Given the description of an element on the screen output the (x, y) to click on. 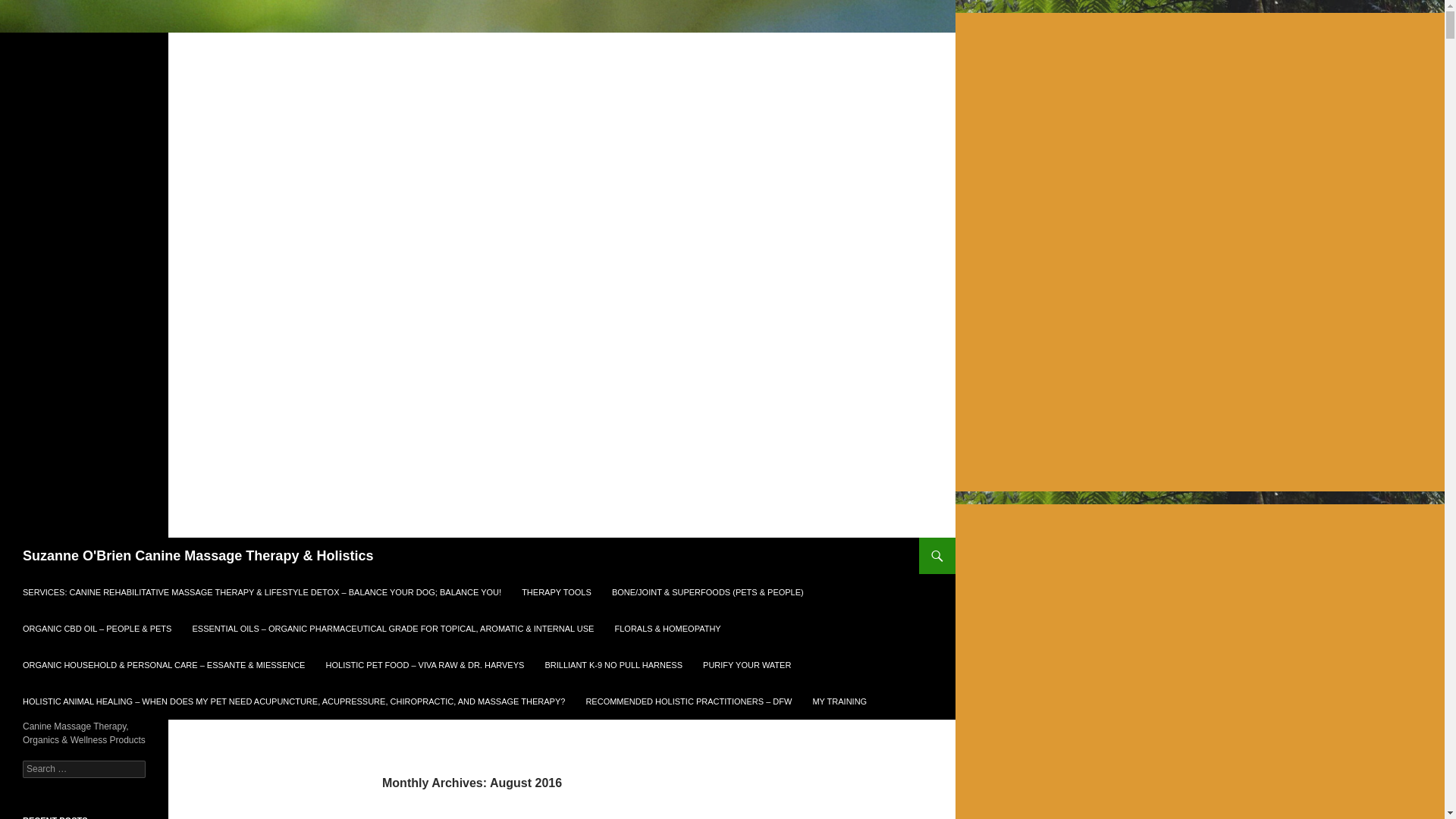
MY TRAINING (839, 701)
BRILLIANT K-9 NO PULL HARNESS (613, 665)
THERAPY TOOLS (555, 592)
PURIFY YOUR WATER (746, 665)
